Given the description of an element on the screen output the (x, y) to click on. 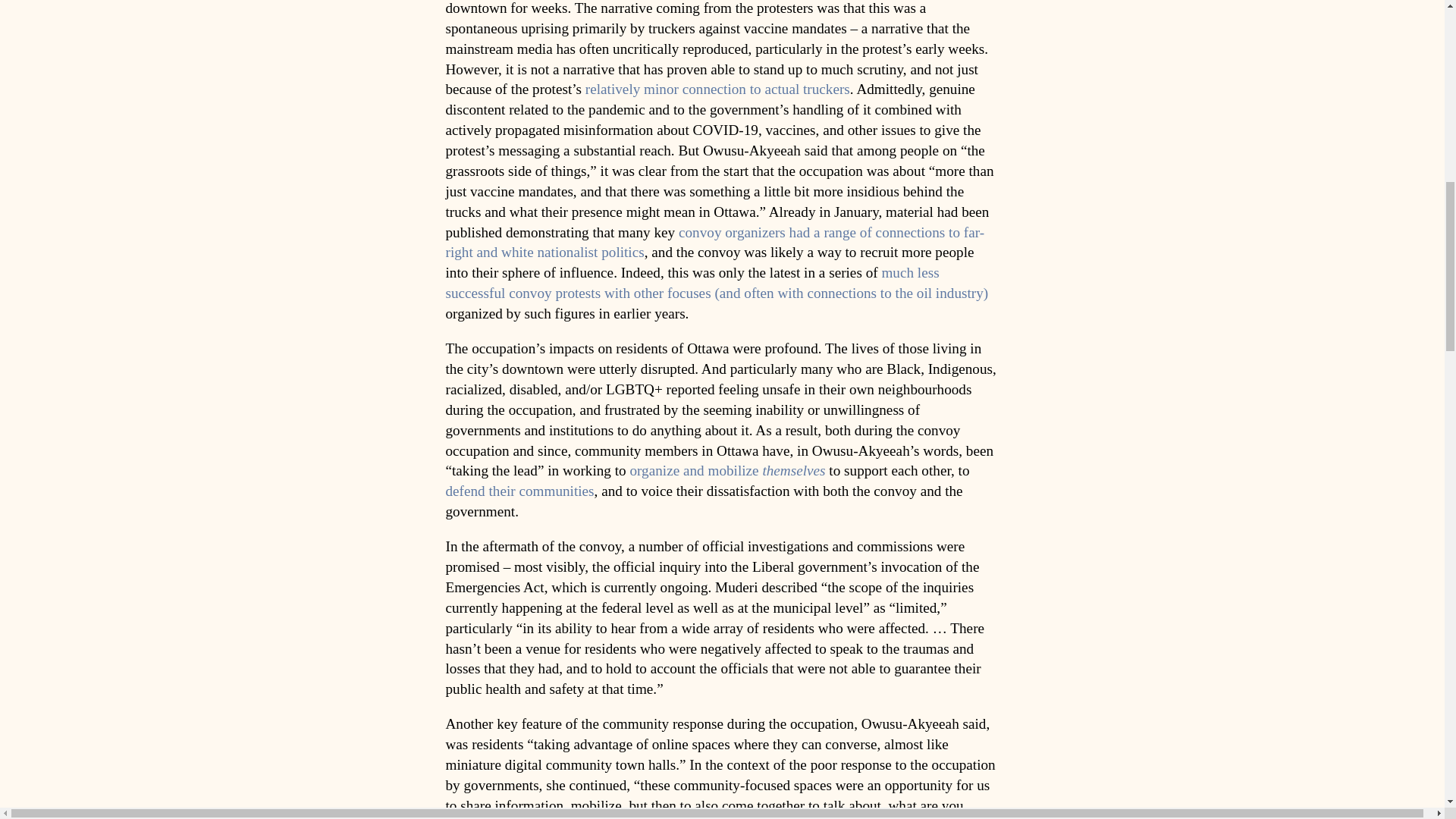
to actual truckers (799, 89)
relatively minor connection (665, 89)
organize and mobilize themselves (726, 470)
defend their communities (519, 490)
